Given the description of an element on the screen output the (x, y) to click on. 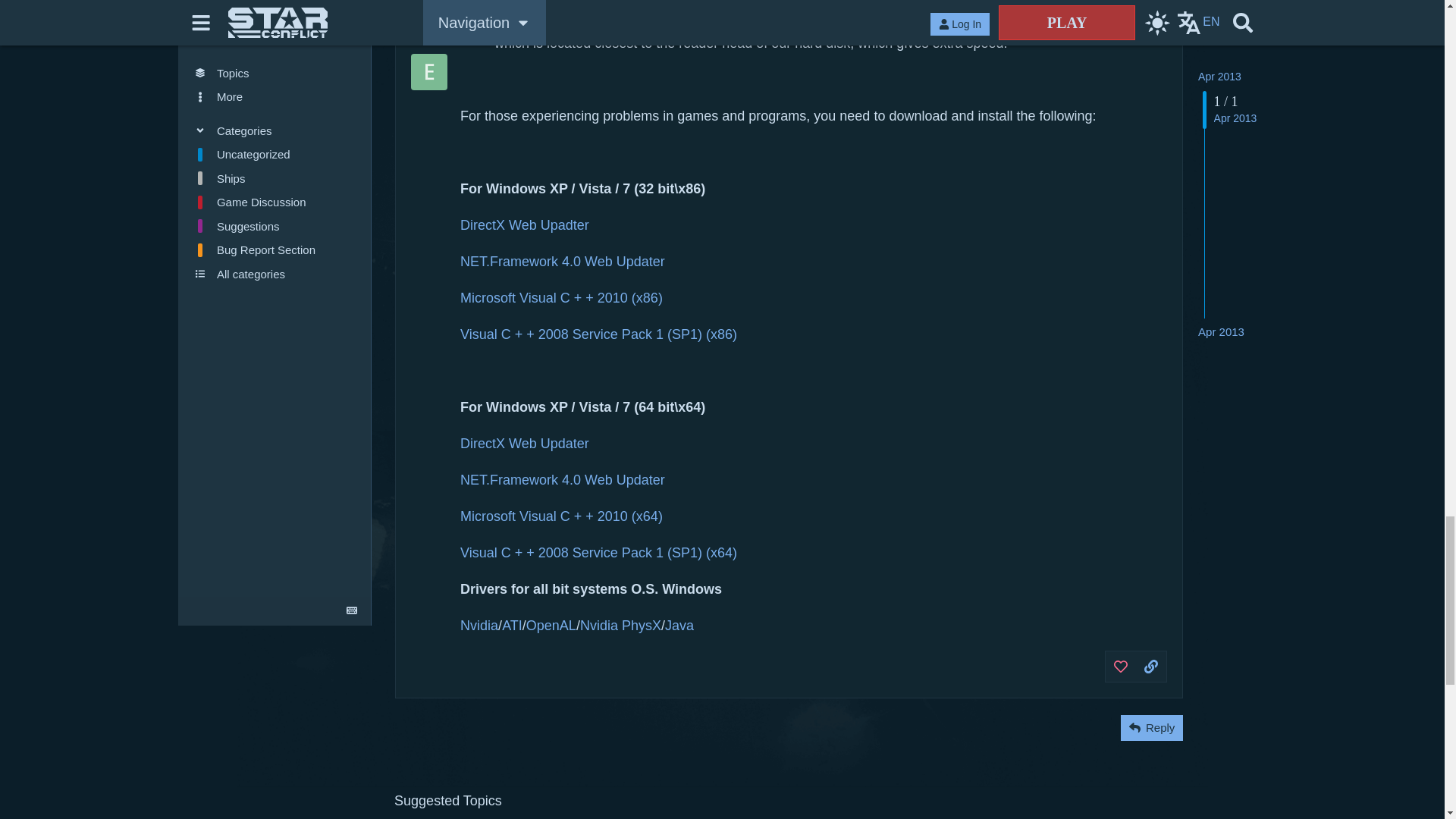
NET.Framework 4.0 Web Updater (562, 261)
DirectX Web Upadter (524, 224)
DirectX Web Updater (524, 443)
NET.Framework 4.0 Web Updater (562, 479)
